Given the description of an element on the screen output the (x, y) to click on. 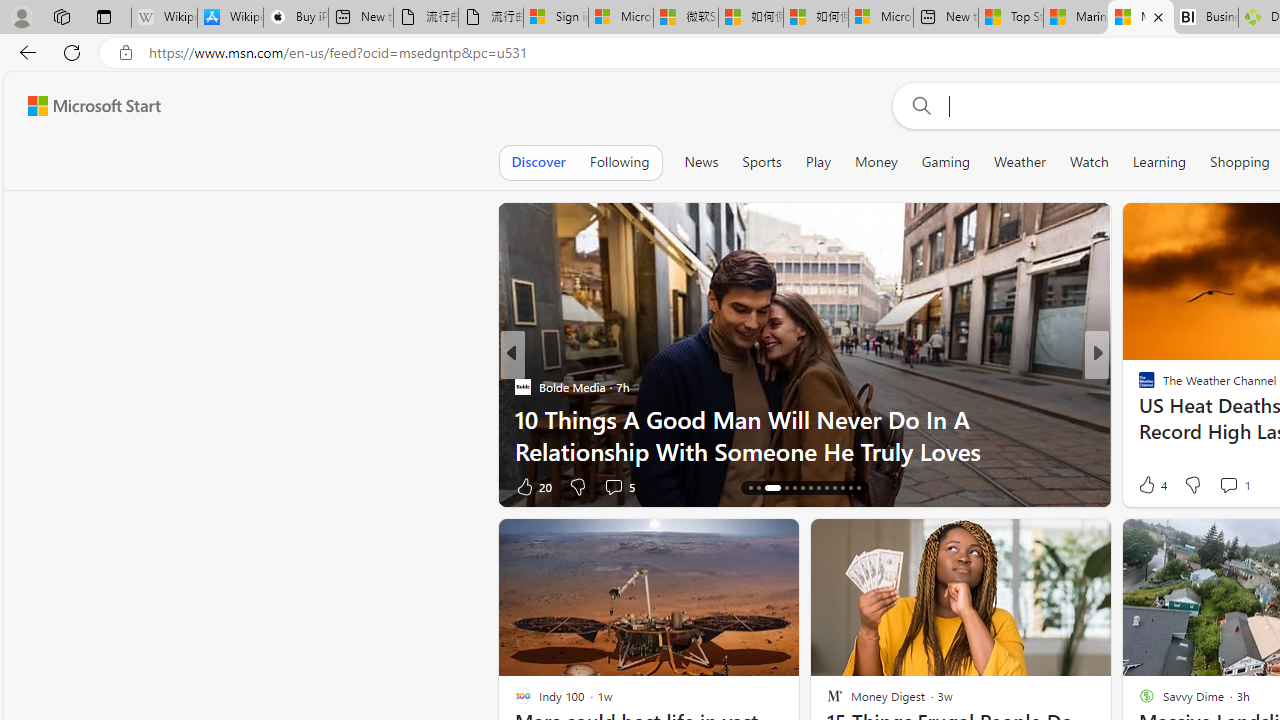
View comments 1k Comment (612, 485)
spot on news (1138, 418)
View comments 35 Comment (1234, 485)
View comments 35 Comment (1244, 486)
Sign in to your Microsoft account (555, 17)
View comments 1 Comment (1234, 484)
Web search (917, 105)
Play (818, 162)
Learning (1159, 161)
AutomationID: tab-26 (857, 487)
AutomationID: tab-19 (801, 487)
AutomationID: tab-25 (850, 487)
Microsoft Services Agreement (620, 17)
